Given the description of an element on the screen output the (x, y) to click on. 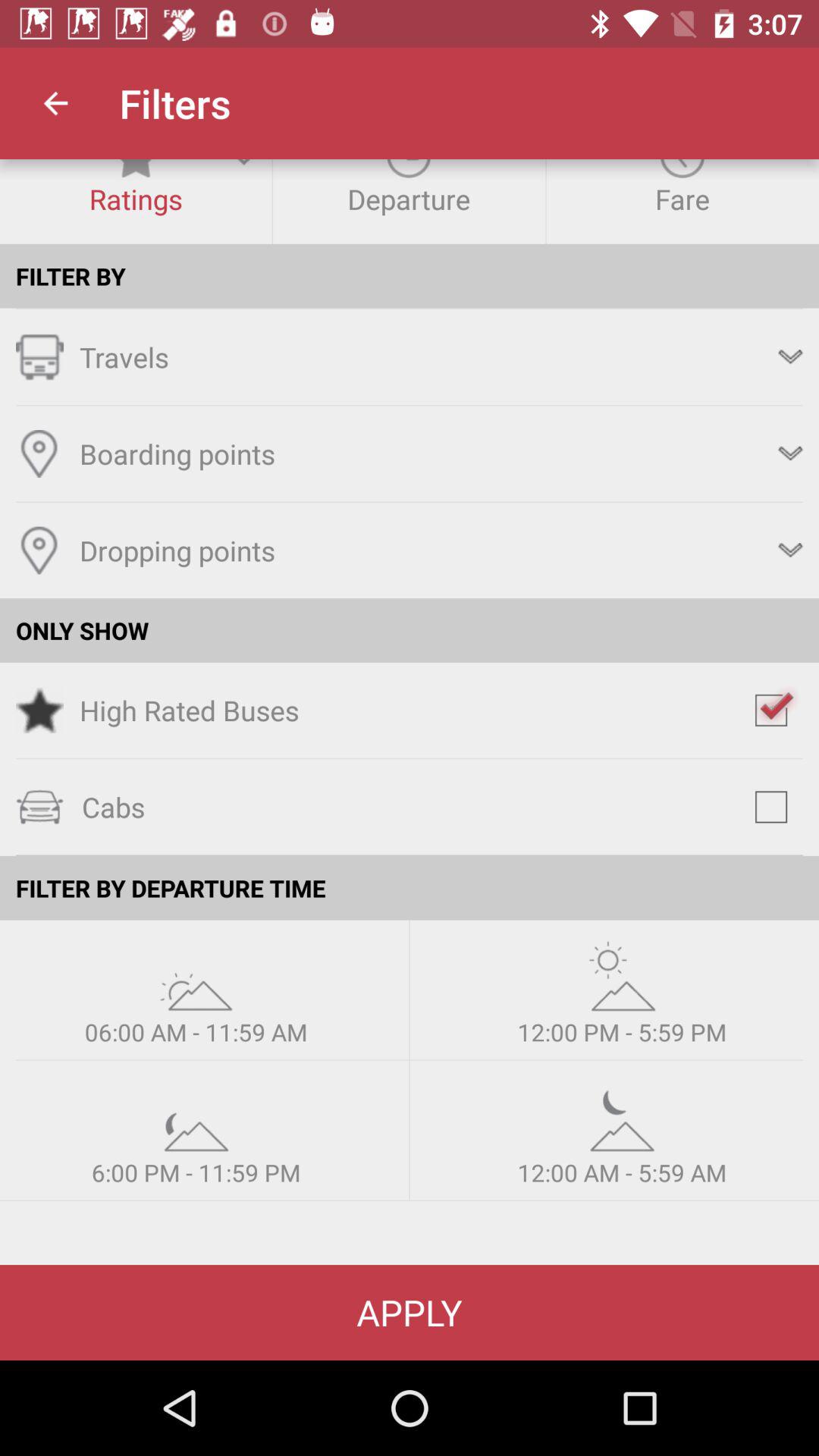
filter by morning time (196, 975)
